Given the description of an element on the screen output the (x, y) to click on. 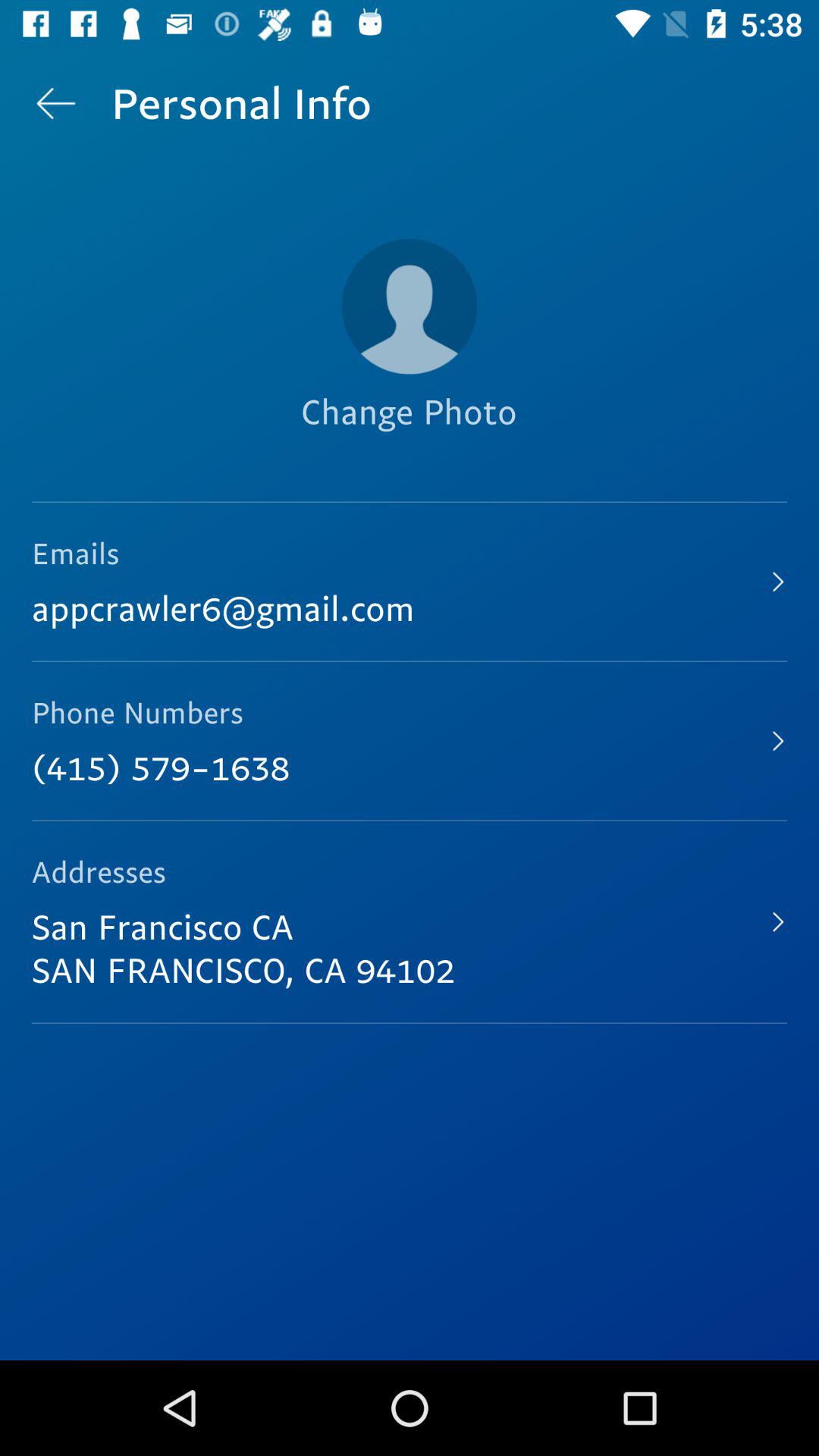
press the icon above the appcrawler6@gmail.com icon (408, 437)
